Given the description of an element on the screen output the (x, y) to click on. 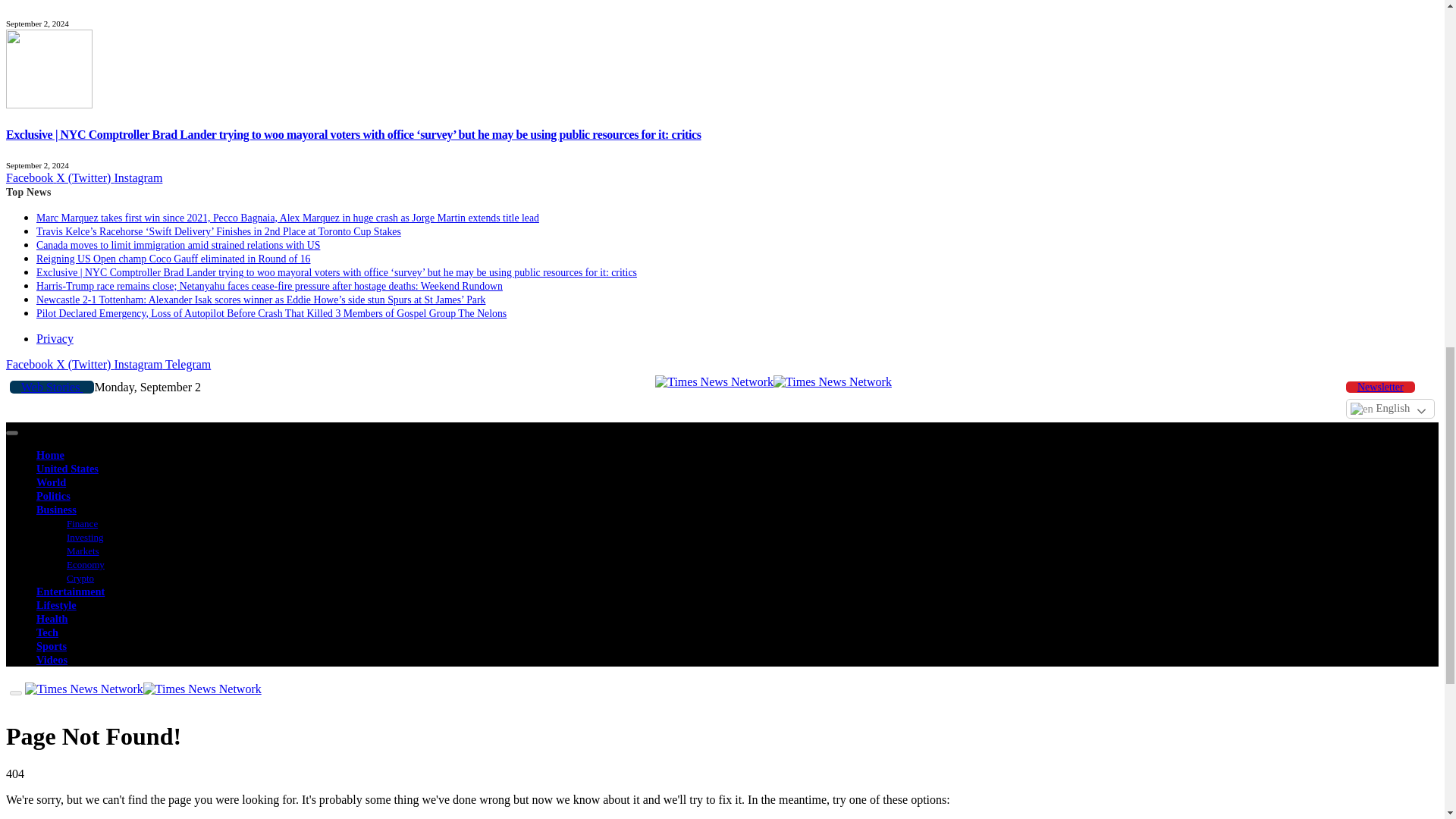
Reigning US Open champ Coco Gauff eliminated in Round of 16 (173, 258)
Instagram (137, 177)
Times News Network (773, 381)
Reigning US Open champ Coco Gauff eliminated in Round of 16 (49, 10)
Privacy (55, 338)
Facebook (30, 177)
